Given the description of an element on the screen output the (x, y) to click on. 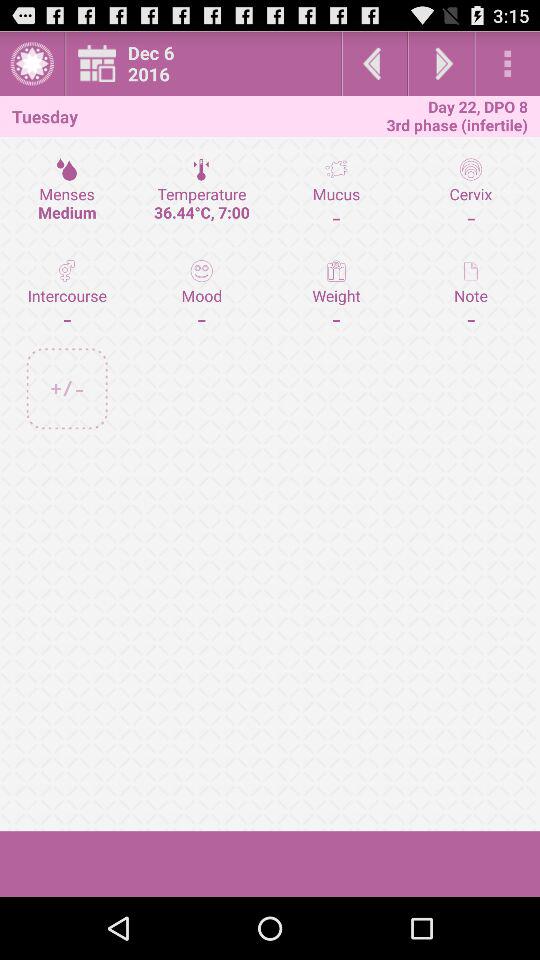
jump until mucus
_ icon (336, 193)
